Given the description of an element on the screen output the (x, y) to click on. 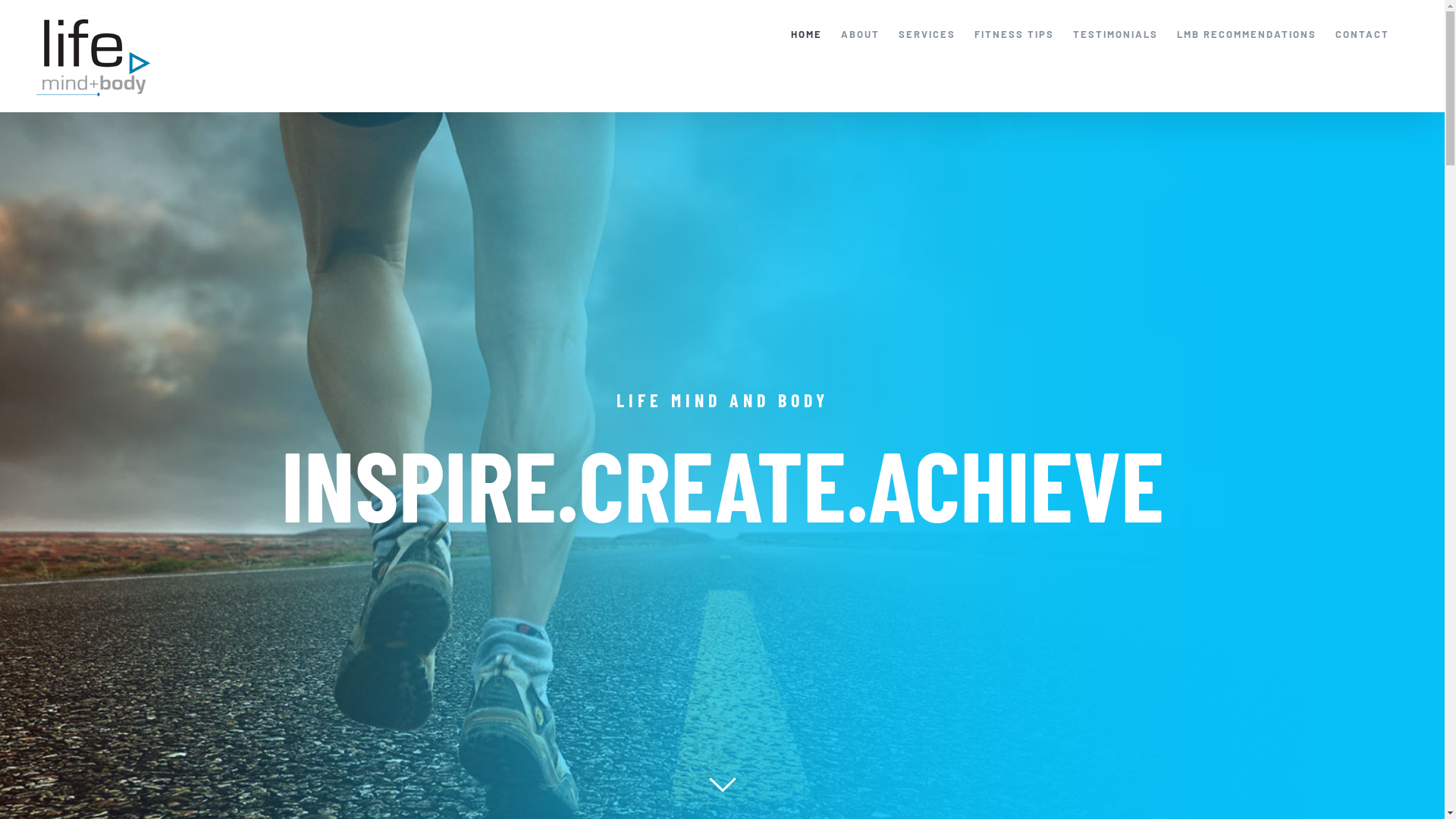
FITNESS TIPS Element type: text (1014, 34)
LMB RECOMMENDATIONS Element type: text (1246, 34)
CONTACT Element type: text (1362, 34)
SERVICES Element type: text (926, 34)
HOME Element type: text (806, 34)
ABOUT Element type: text (859, 34)
TESTIMONIALS Element type: text (1115, 34)
